Given the description of an element on the screen output the (x, y) to click on. 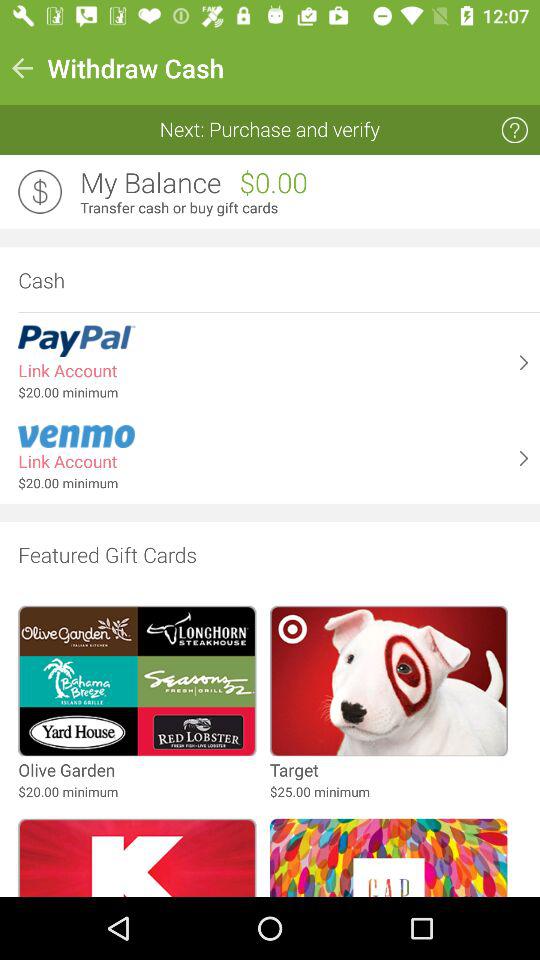
press the item above the $25.00 minimum icon (294, 770)
